Given the description of an element on the screen output the (x, y) to click on. 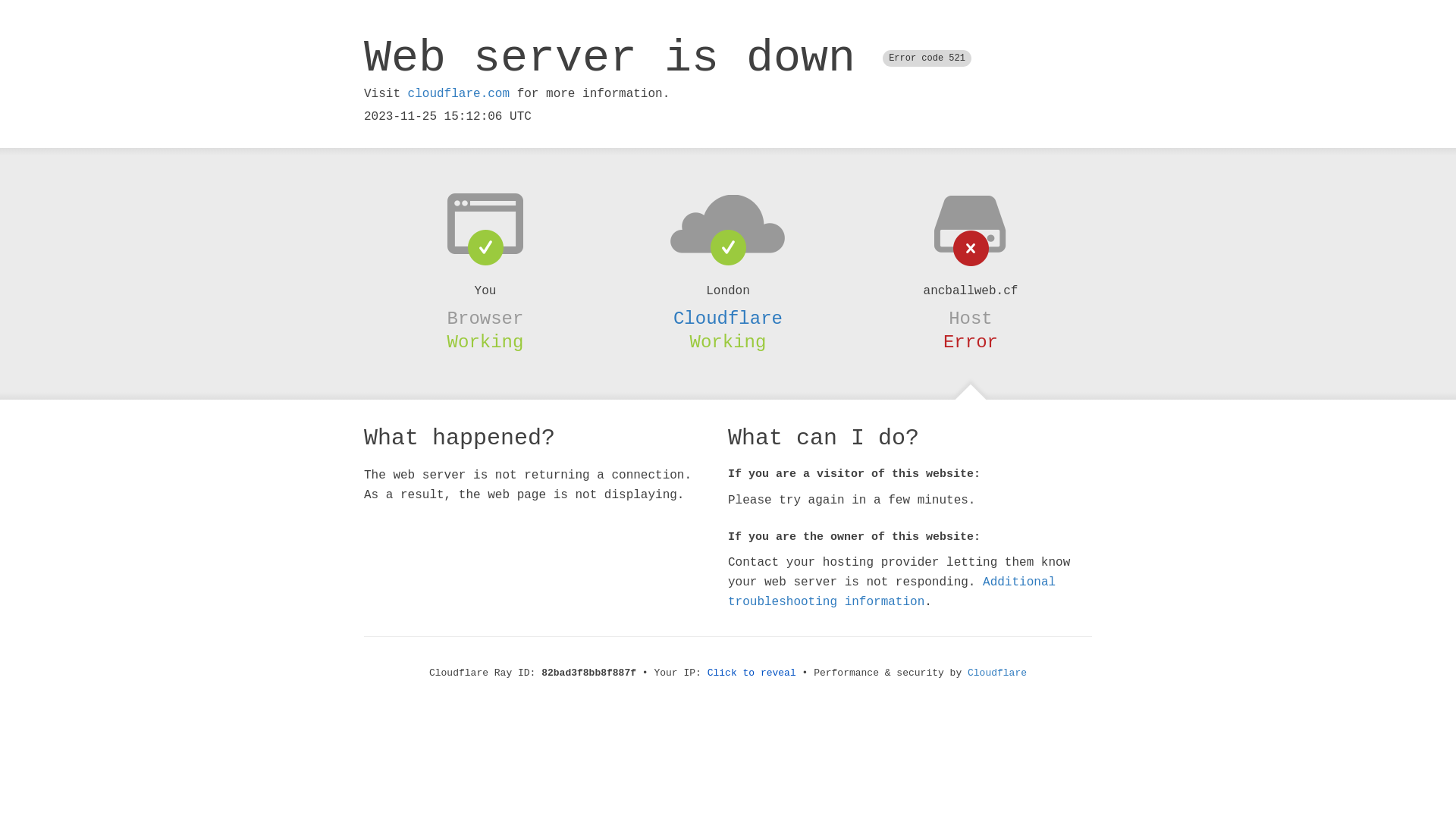
Cloudflare Element type: text (996, 672)
Additional troubleshooting information Element type: text (891, 591)
Click to reveal Element type: text (751, 672)
Cloudflare Element type: text (727, 318)
cloudflare.com Element type: text (458, 93)
